Given the description of an element on the screen output the (x, y) to click on. 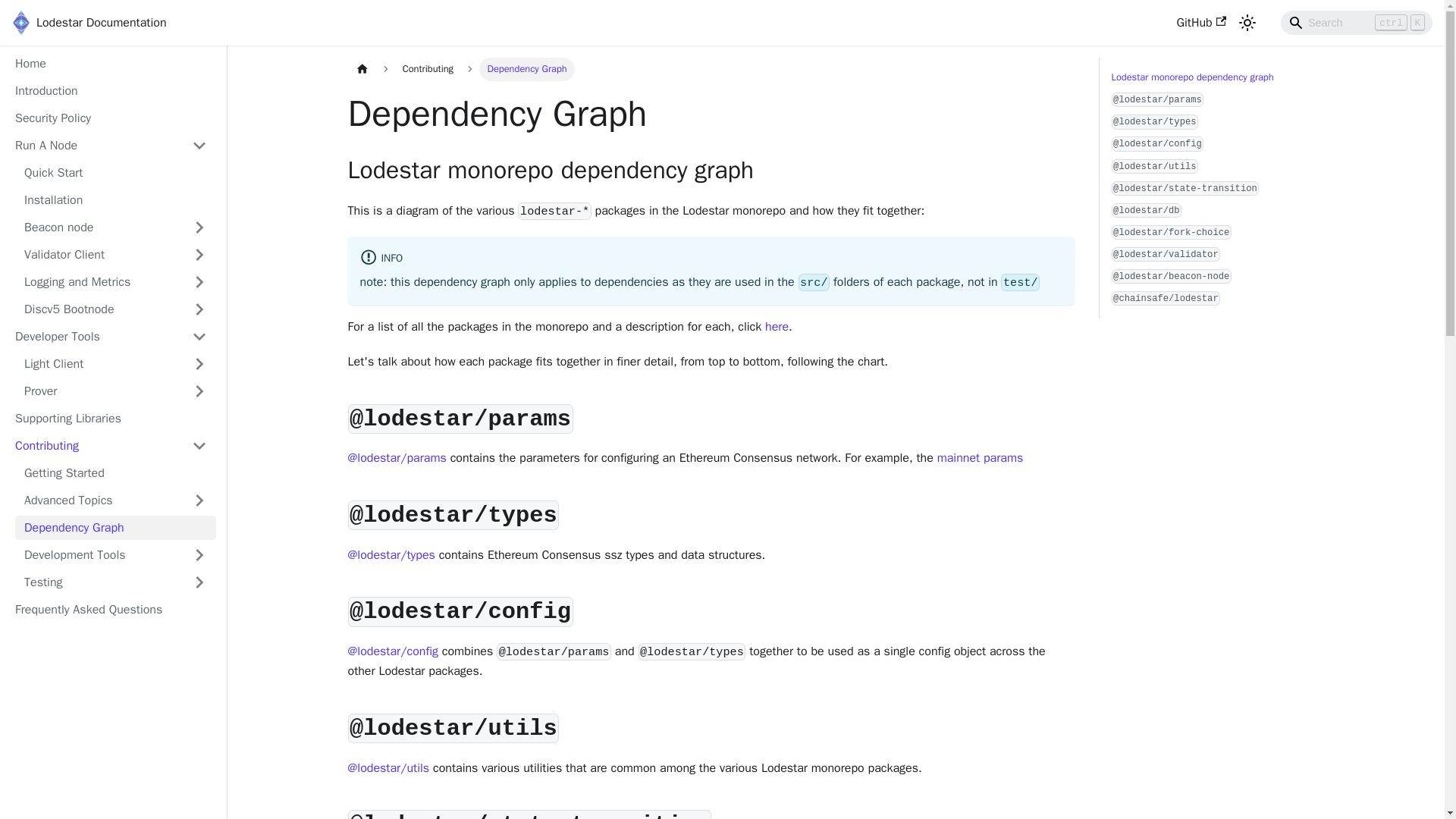
Frequently Asked Questions (110, 609)
Dependency Graph (114, 527)
Advanced Topics (114, 500)
Testing (114, 582)
Beacon node (114, 227)
Validator Client (114, 254)
Lodestar Documentation (89, 22)
Quick Start (114, 172)
Supporting Libraries (110, 418)
Security Policy (110, 118)
Prover (114, 391)
mainnet params (980, 458)
Introduction (110, 90)
Development Tools (114, 554)
Run A Node (110, 145)
